Given the description of an element on the screen output the (x, y) to click on. 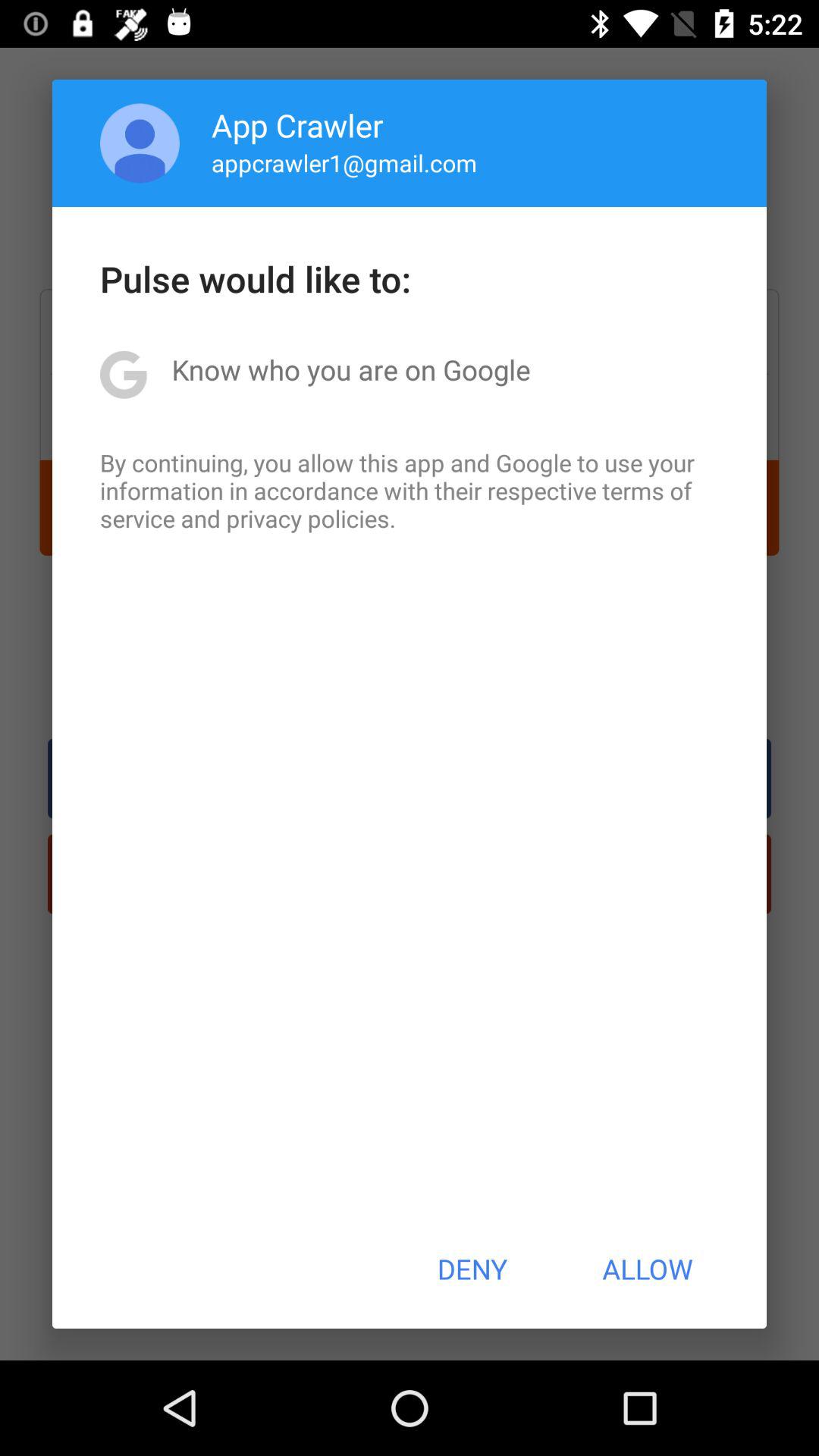
open button next to allow button (471, 1268)
